Given the description of an element on the screen output the (x, y) to click on. 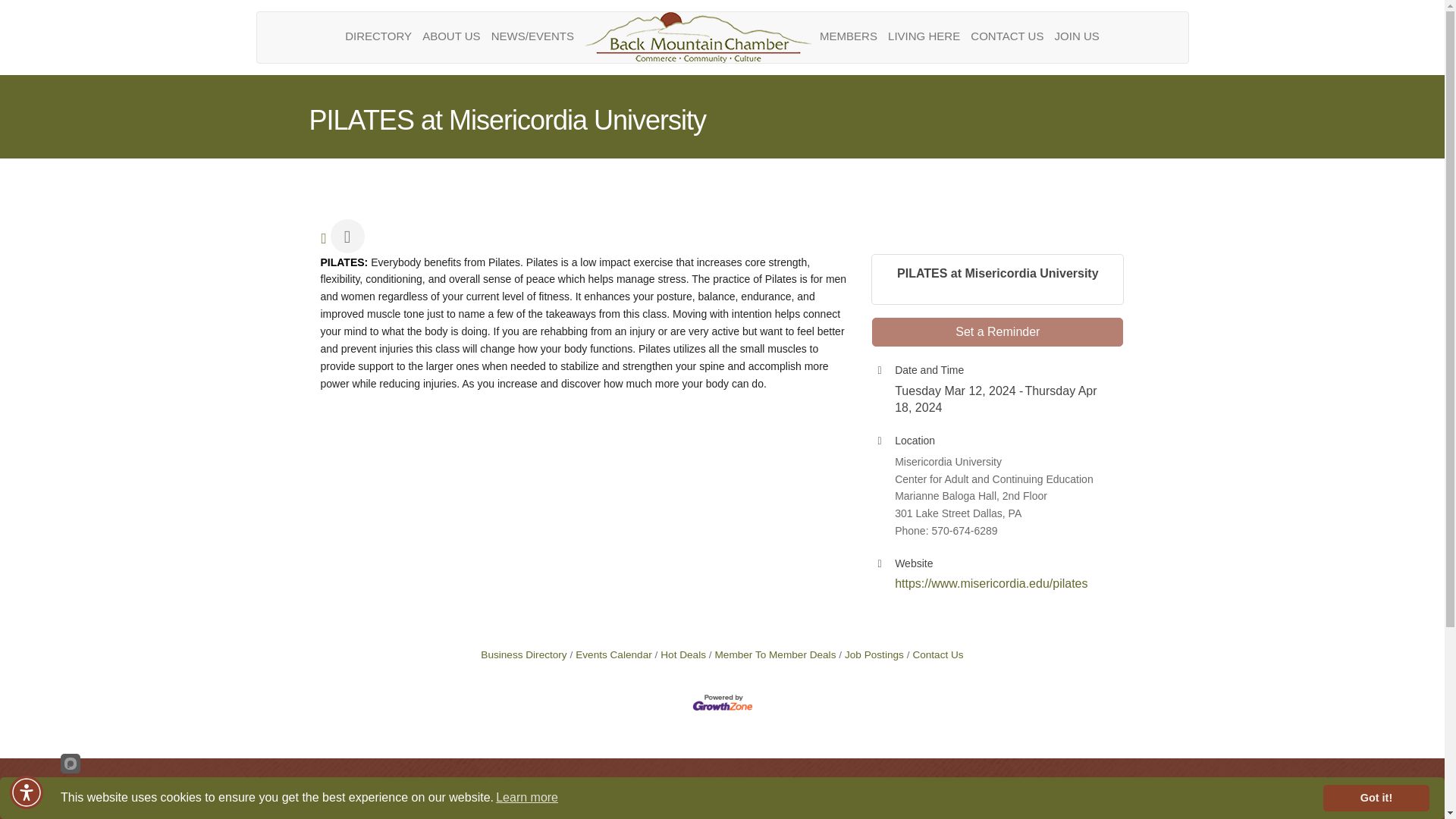
ABOUT US (451, 35)
Accessibility Menu (26, 792)
MEMBERS (847, 35)
DIRECTORY (377, 35)
